Given the description of an element on the screen output the (x, y) to click on. 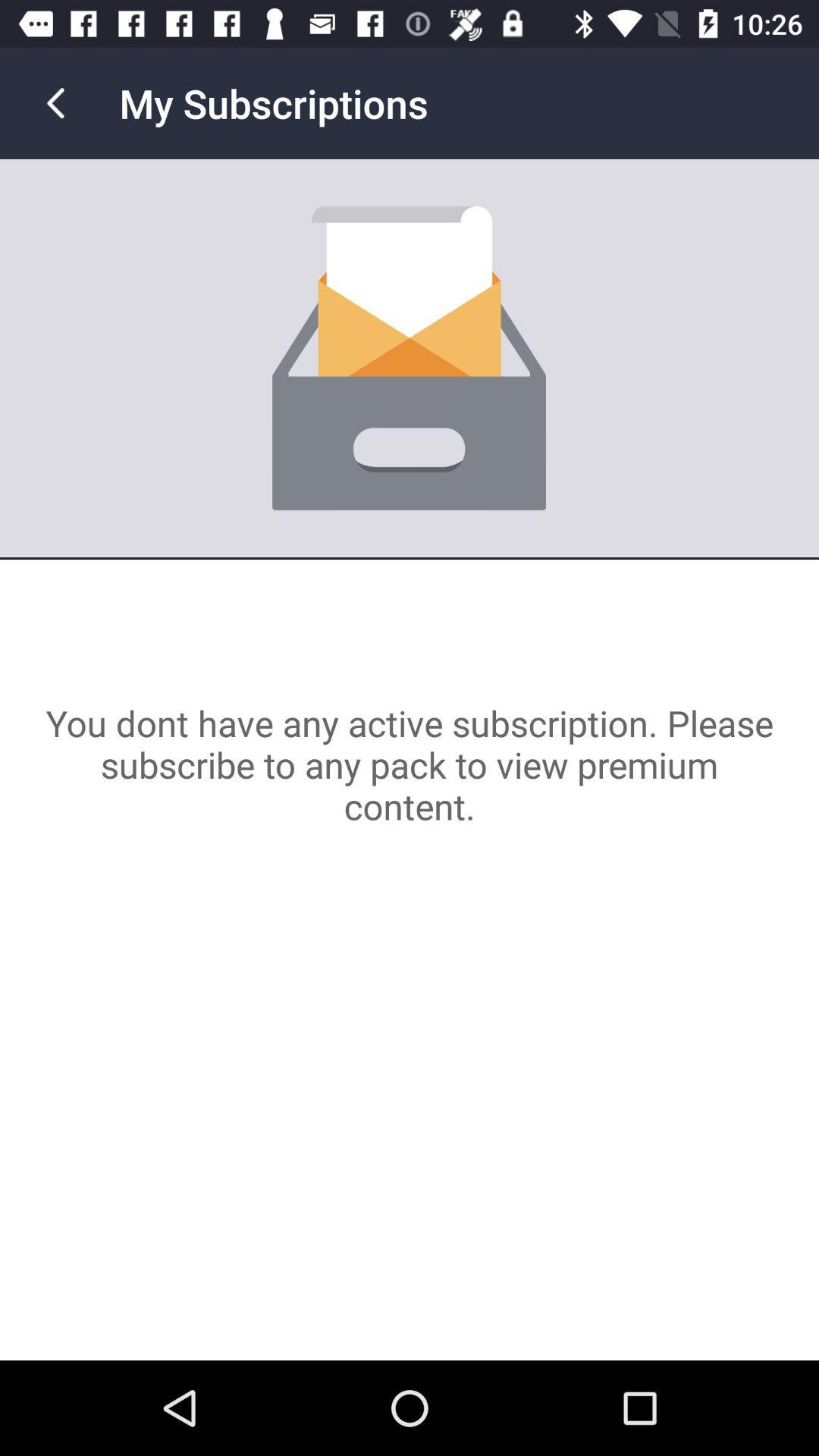
turn on the icon to the left of the my subscriptions icon (55, 103)
